Given the description of an element on the screen output the (x, y) to click on. 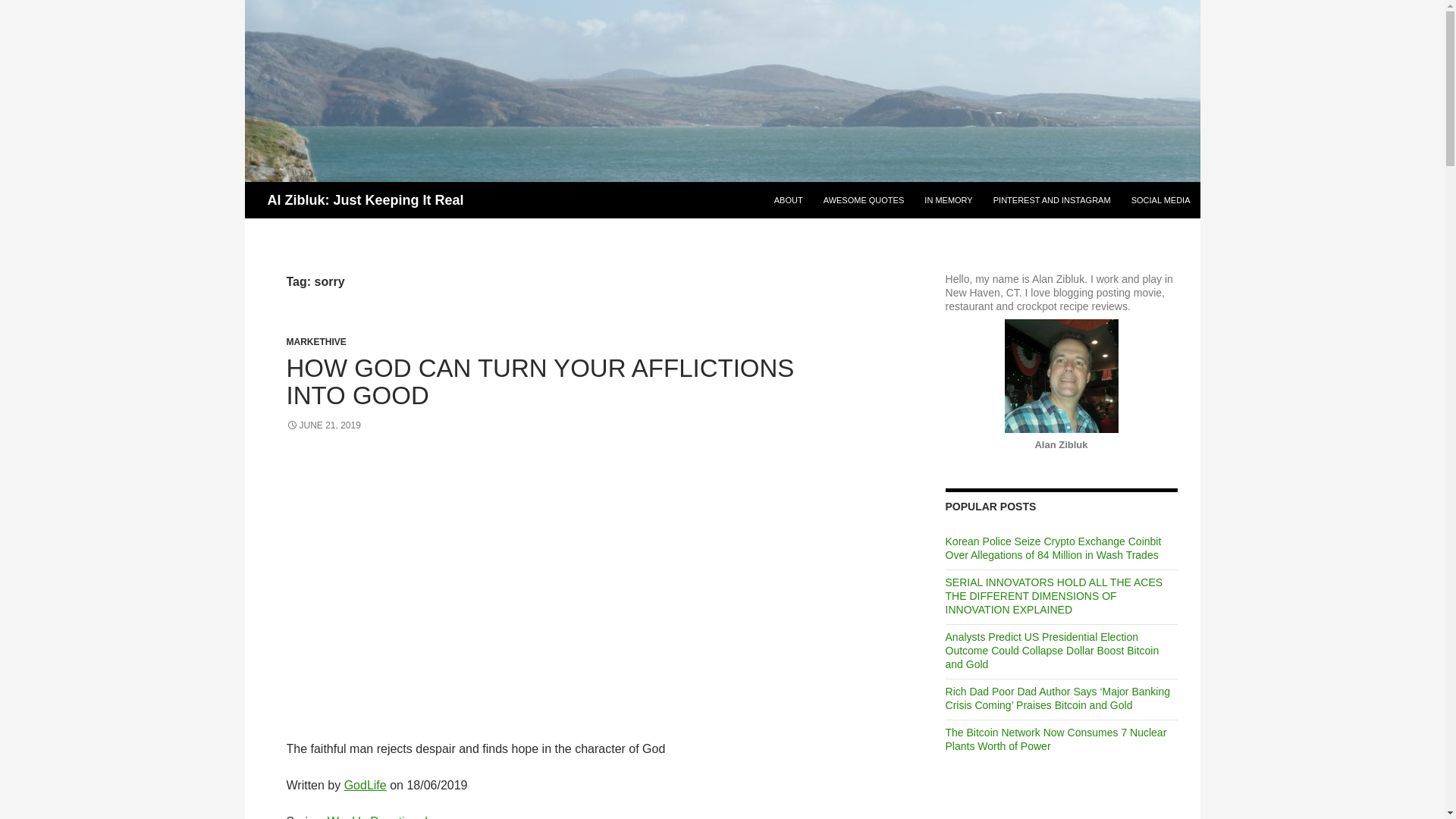
Advertisement (572, 570)
JUNE 21, 2019 (323, 425)
HOW GOD CAN TURN YOUR AFFLICTIONS INTO GOOD (540, 381)
Advertisement (1058, 804)
MARKETHIVE (316, 341)
Weekly Devotional (377, 816)
Al Zibluk: Just Keeping It Real (364, 199)
PINTEREST AND INSTAGRAM (1051, 199)
ABOUT (788, 199)
GodLife (365, 784)
